Given the description of an element on the screen output the (x, y) to click on. 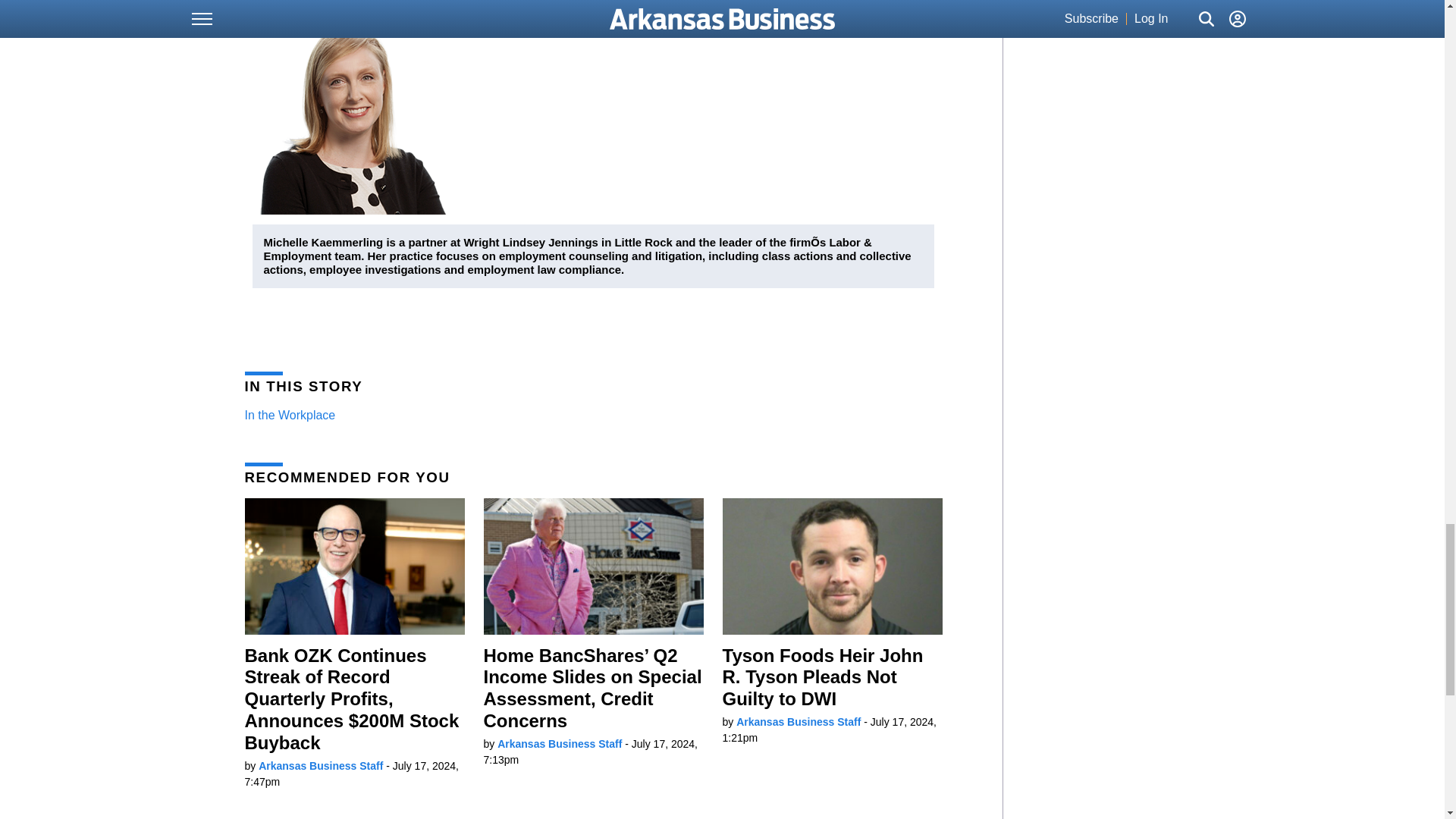
Posts by Arkansas Business Staff (559, 743)
Posts by Arkansas Business Staff (798, 721)
Posts by Arkansas Business Staff (320, 766)
